Given the description of an element on the screen output the (x, y) to click on. 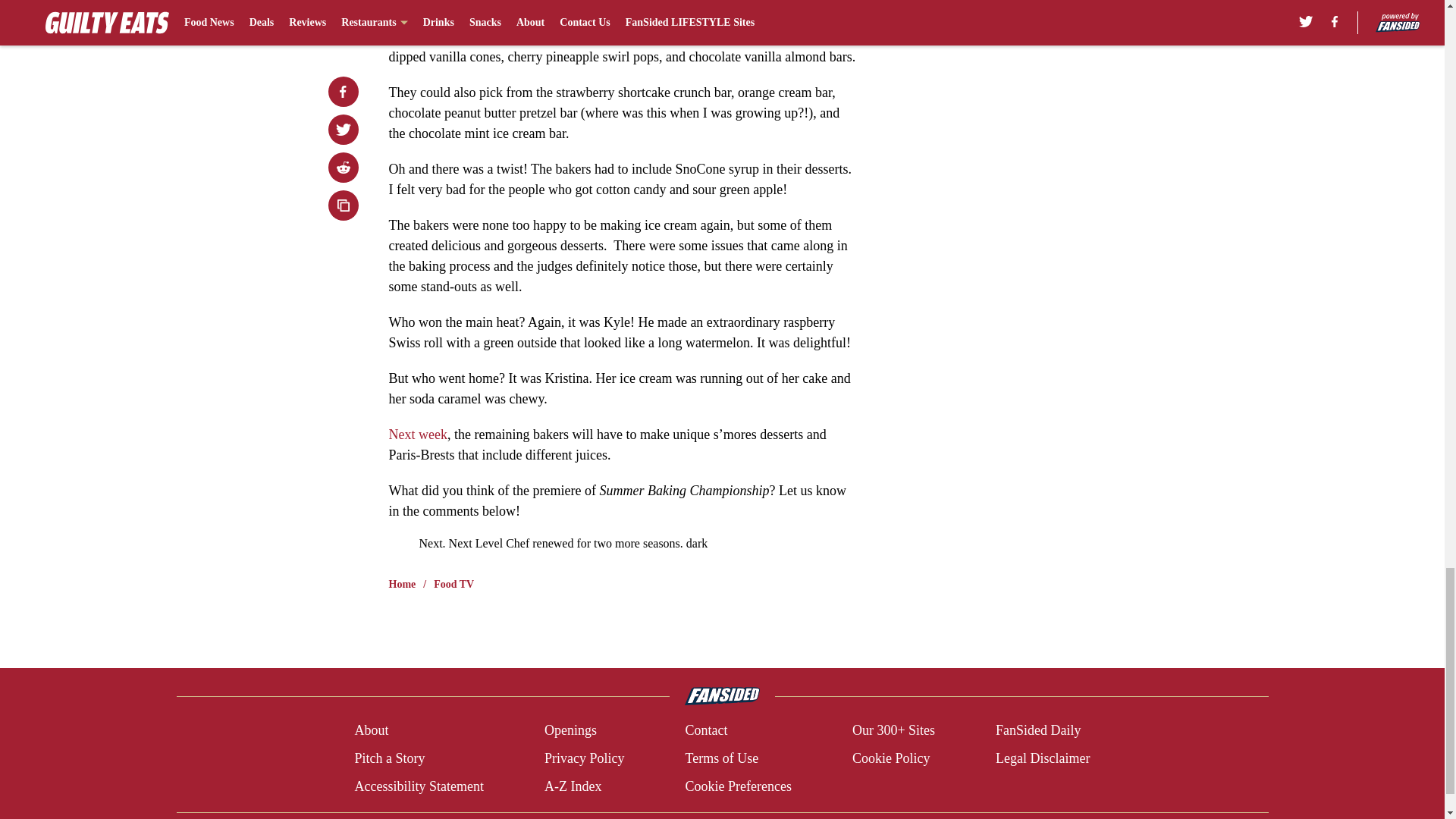
Home (401, 584)
Accessibility Statement (418, 786)
Cookie Preferences (737, 786)
A-Z Index (572, 786)
Legal Disclaimer (1042, 758)
Food TV (453, 584)
Pitch a Story (389, 758)
Next week (417, 434)
Cookie Policy (890, 758)
Terms of Use (721, 758)
